Given the description of an element on the screen output the (x, y) to click on. 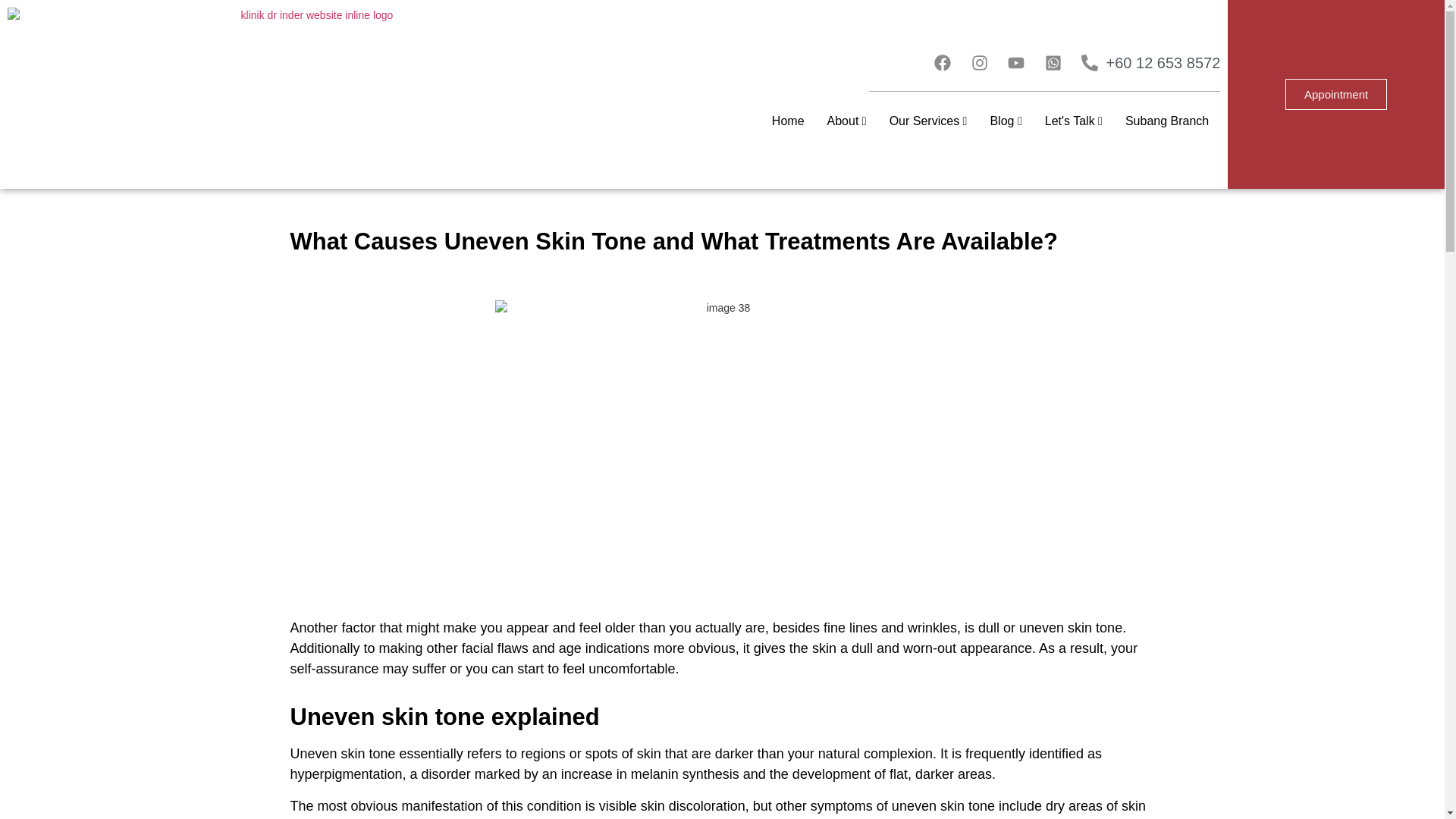
Our Services (928, 121)
Let's Talk (1072, 121)
Subang Branch (1166, 121)
Home (788, 121)
Blog (1005, 121)
About (847, 121)
